Given the description of an element on the screen output the (x, y) to click on. 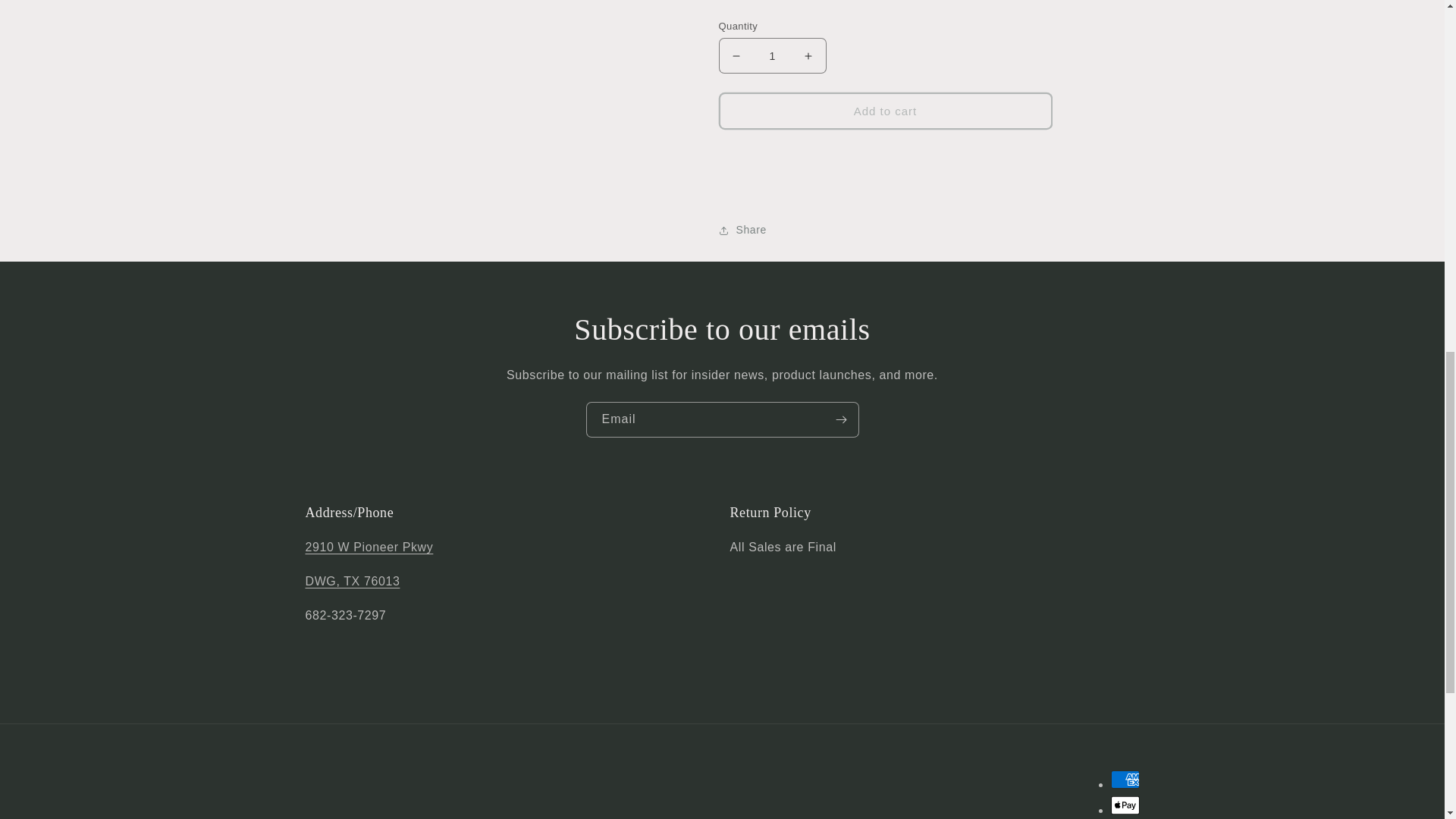
Apple Pay (1123, 805)
American Express (1123, 779)
1 (773, 44)
